Given the description of an element on the screen output the (x, y) to click on. 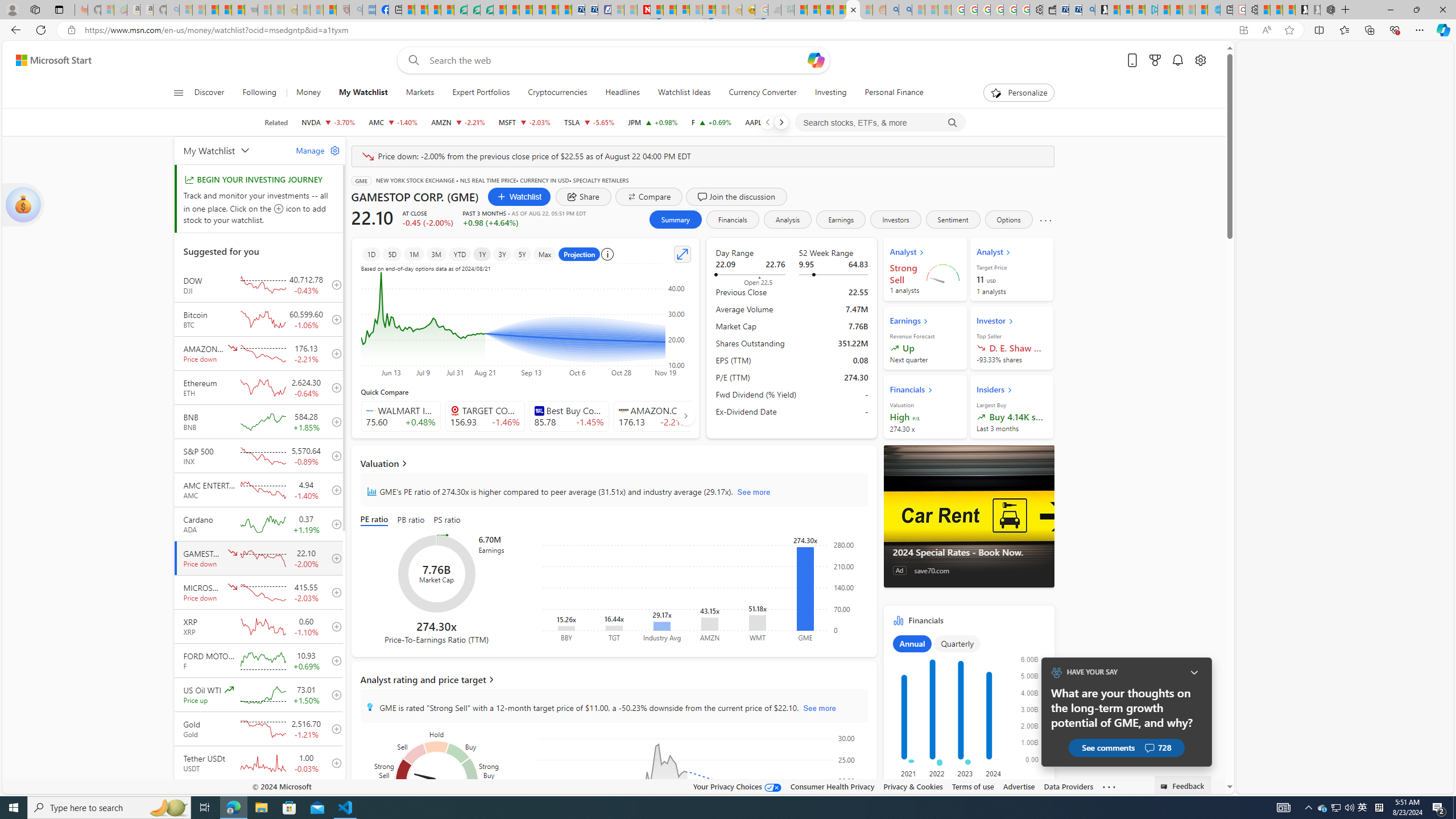
Local - MSN (329, 9)
Earnings (841, 219)
My Watchlist (363, 92)
Expert Portfolios (480, 92)
MSFT MICROSOFT CORPORATION decrease 415.55 -8.59 -2.03% (524, 122)
Investing (830, 92)
PS ratio (447, 520)
Class: card_head_icon_lightMode-DS-EntryPoint1-1 (1009, 389)
Expert Portfolios (480, 92)
